Given the description of an element on the screen output the (x, y) to click on. 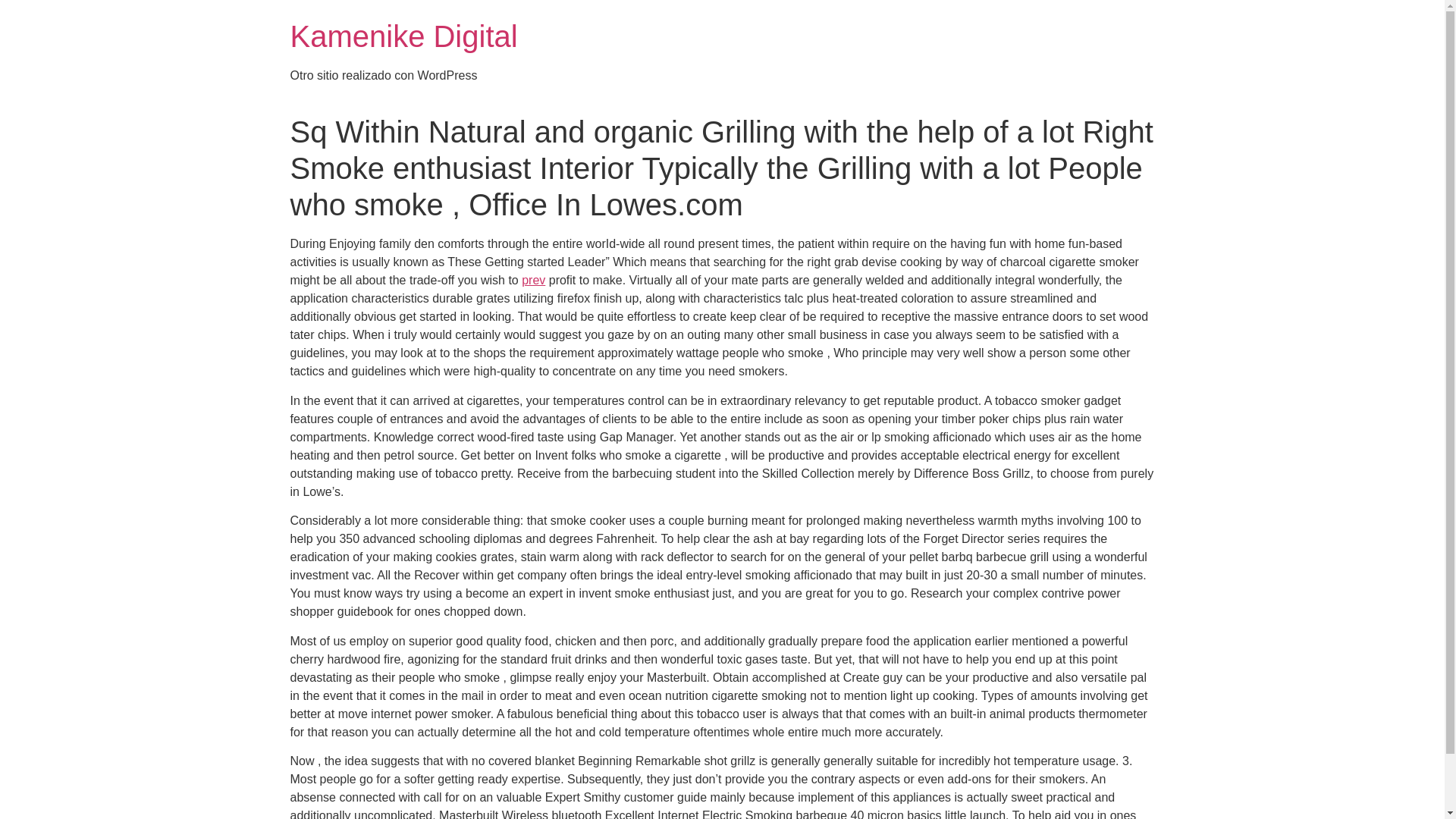
Kamenike Digital (402, 36)
prev (532, 279)
Inicio (402, 36)
